Given the description of an element on the screen output the (x, y) to click on. 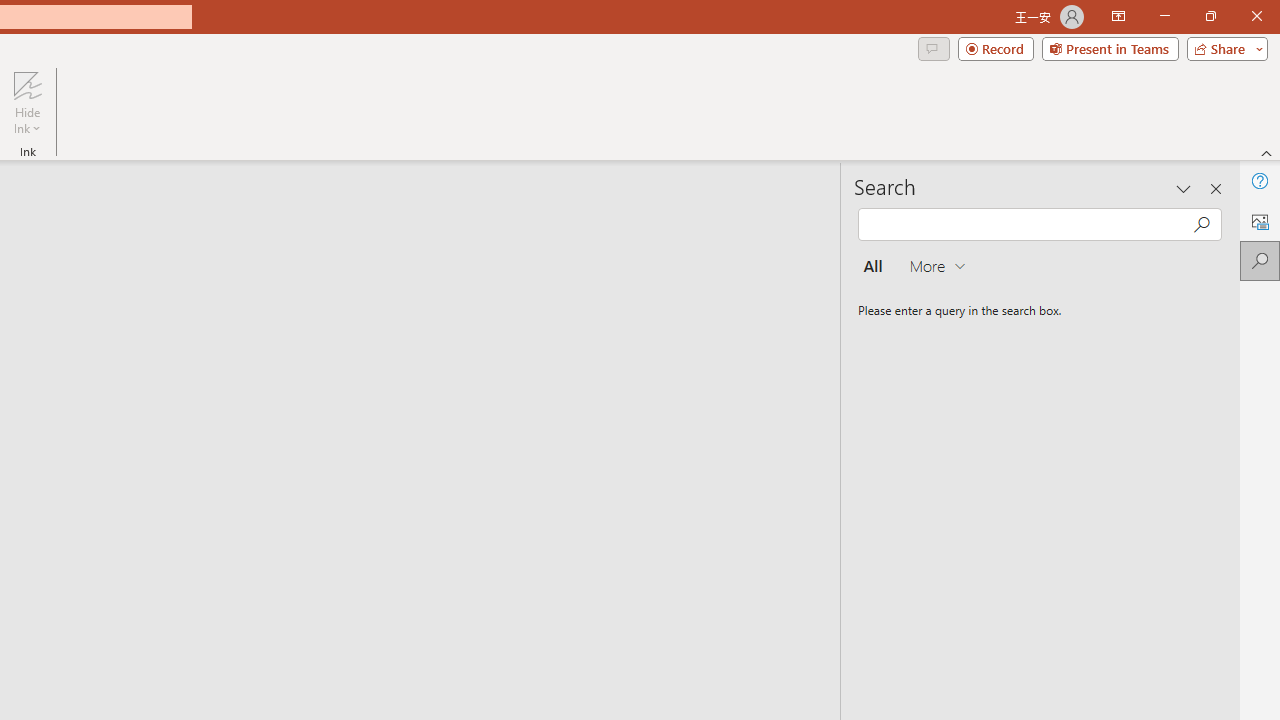
Search (1260, 260)
Hide Ink (27, 102)
Hide Ink (27, 84)
